Given the description of an element on the screen output the (x, y) to click on. 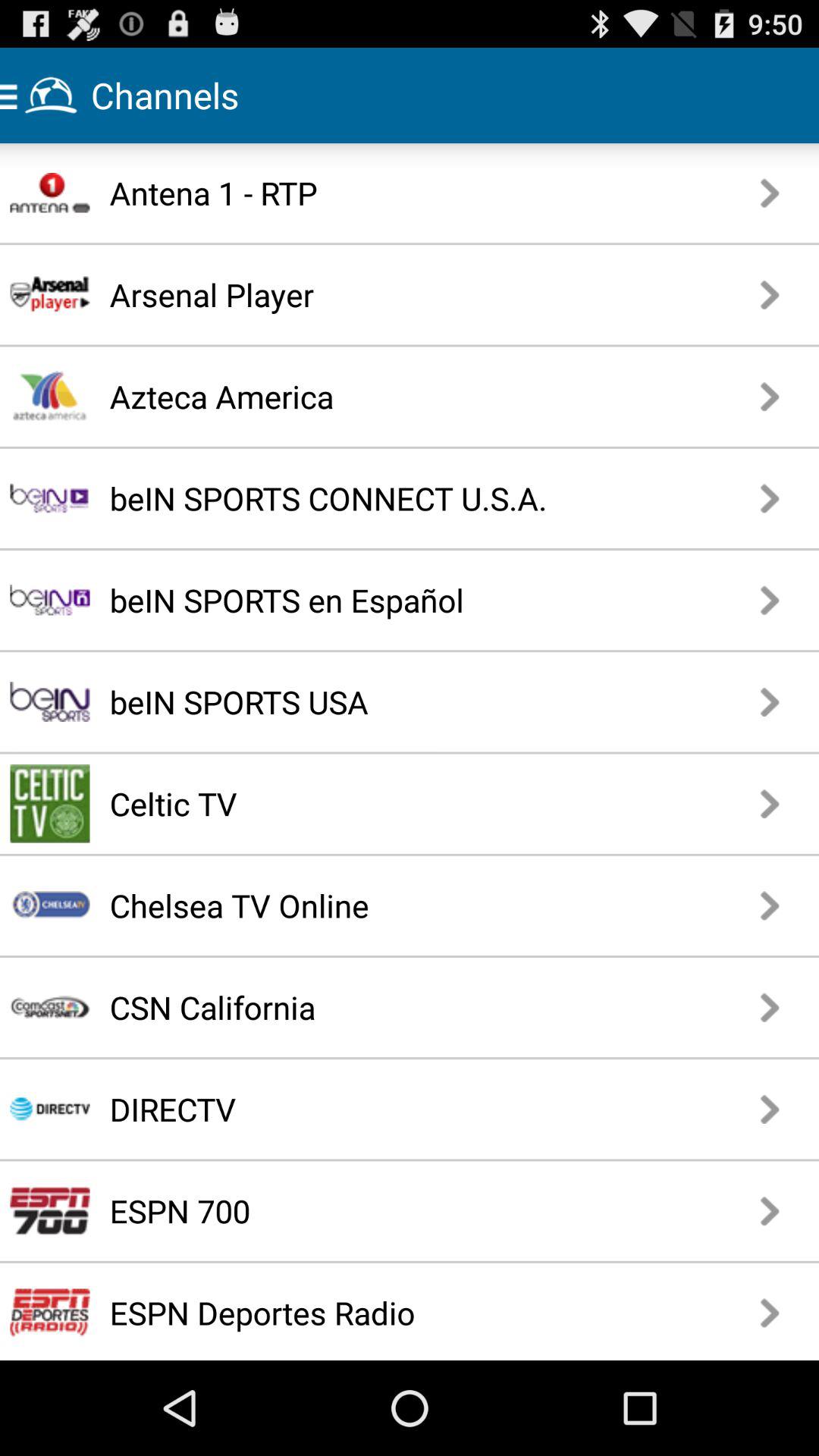
scroll to azteca america icon (369, 396)
